Given the description of an element on the screen output the (x, y) to click on. 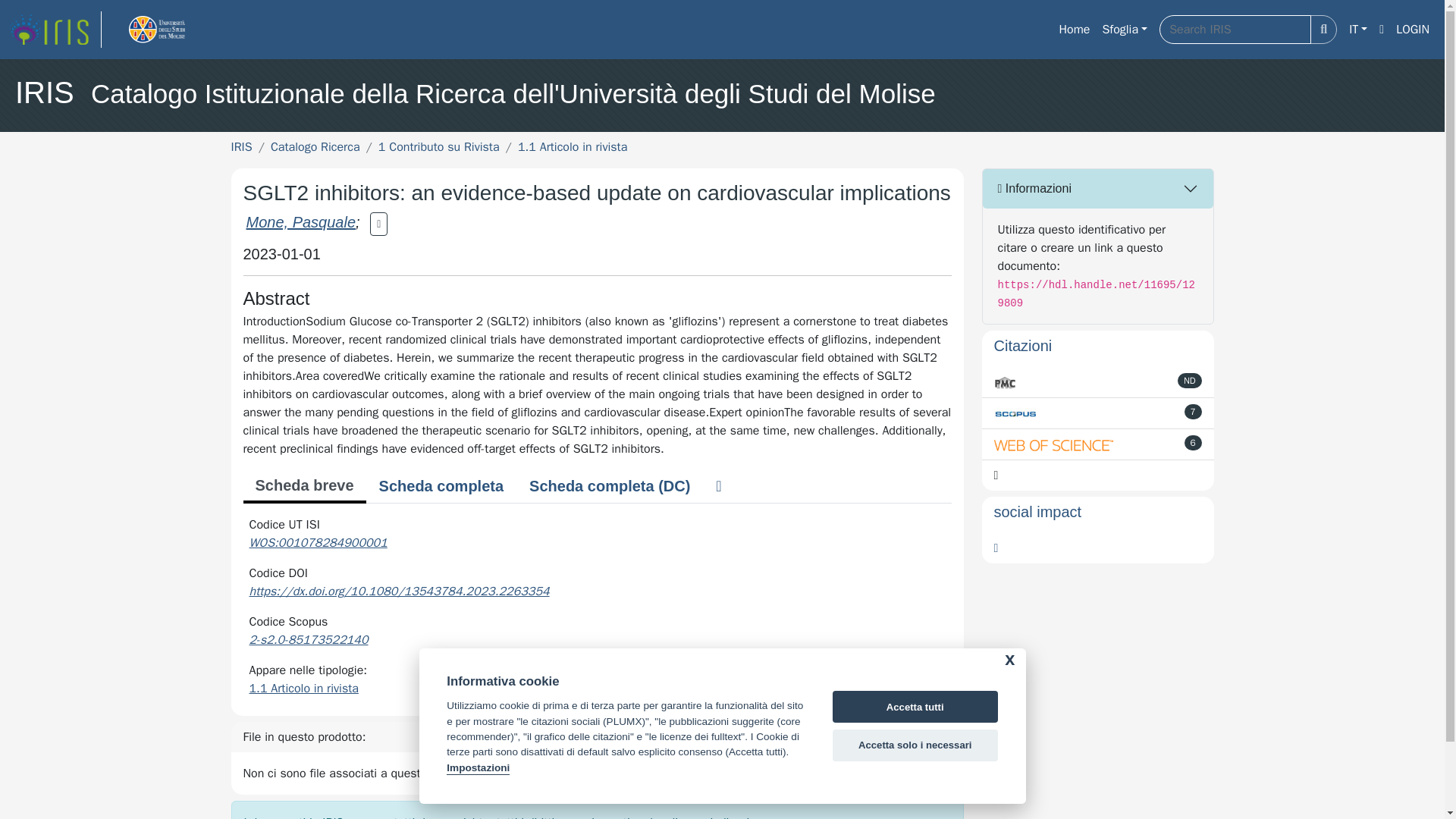
1 Contributo su Rivista (438, 146)
Mone, Pasquale (300, 221)
 Informazioni (1097, 188)
2-s2.0-85173522140 (308, 639)
WOS:001078284900001 (317, 542)
1.1 Articolo in rivista (572, 146)
Sfoglia (1124, 29)
Scheda completa (441, 486)
Scheda breve (304, 486)
1.1 Articolo in rivista (303, 688)
Home (1074, 29)
LOGIN (1412, 29)
Catalogo Ricerca (314, 146)
IT (1357, 29)
aggiornato in data 10-07-2024 17:42 (1193, 411)
